Given the description of an element on the screen output the (x, y) to click on. 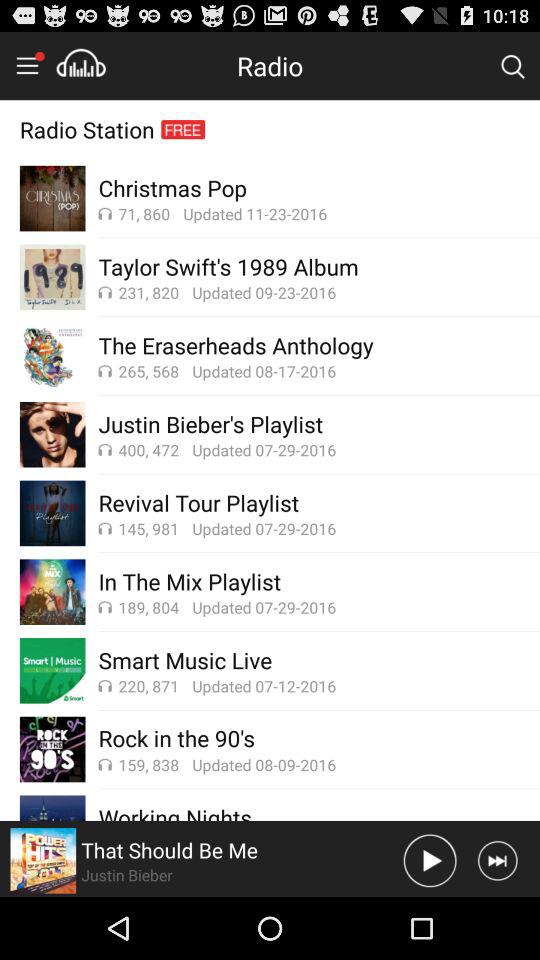
play sound (429, 860)
